Given the description of an element on the screen output the (x, y) to click on. 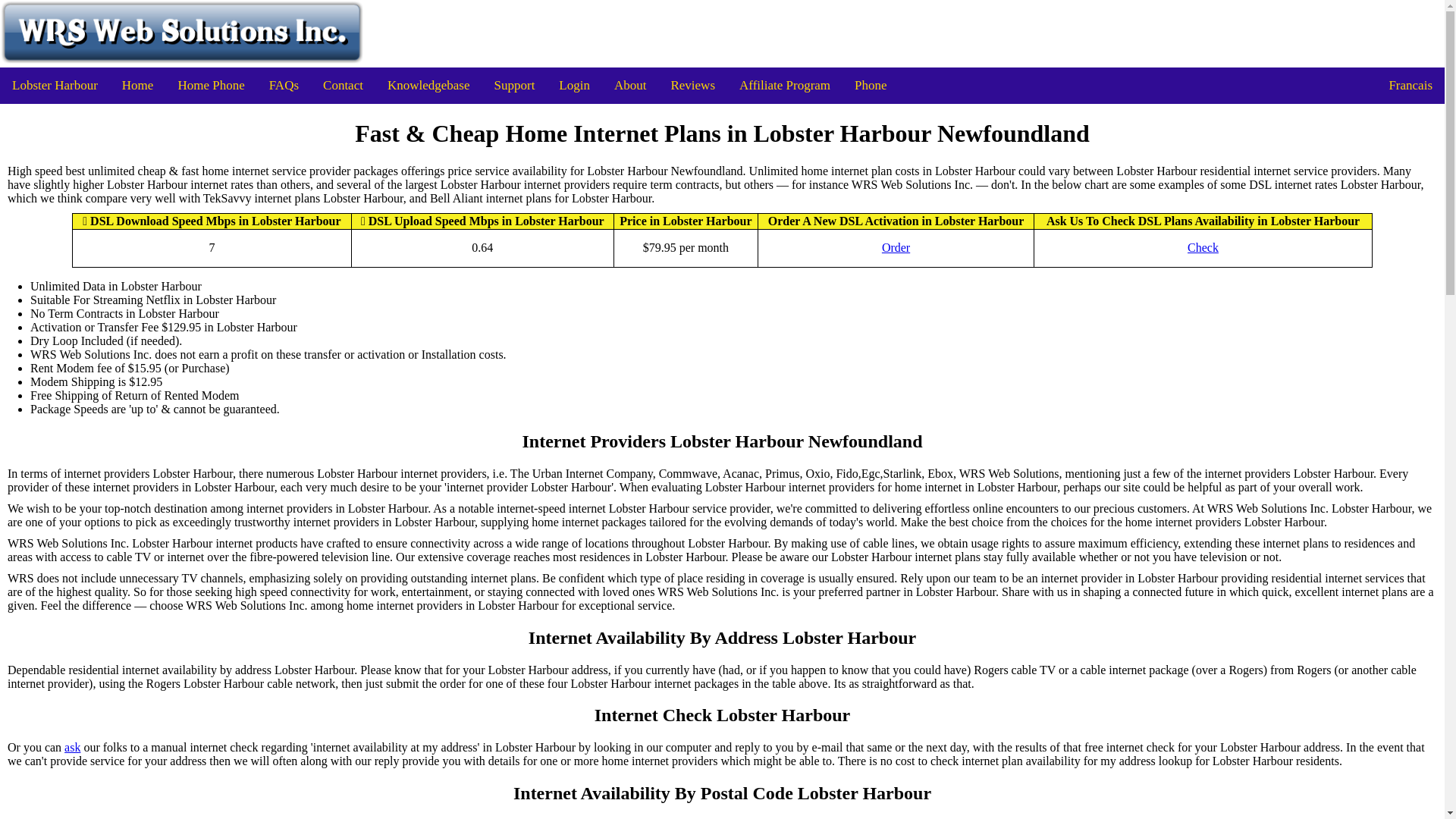
ask (72, 747)
Login (574, 85)
Check (1203, 247)
Support (514, 85)
About (630, 85)
FAQs (284, 85)
Reviews (692, 85)
Order (896, 247)
Affiliate Program (784, 85)
Knowledgebase (428, 85)
